Given the description of an element on the screen output the (x, y) to click on. 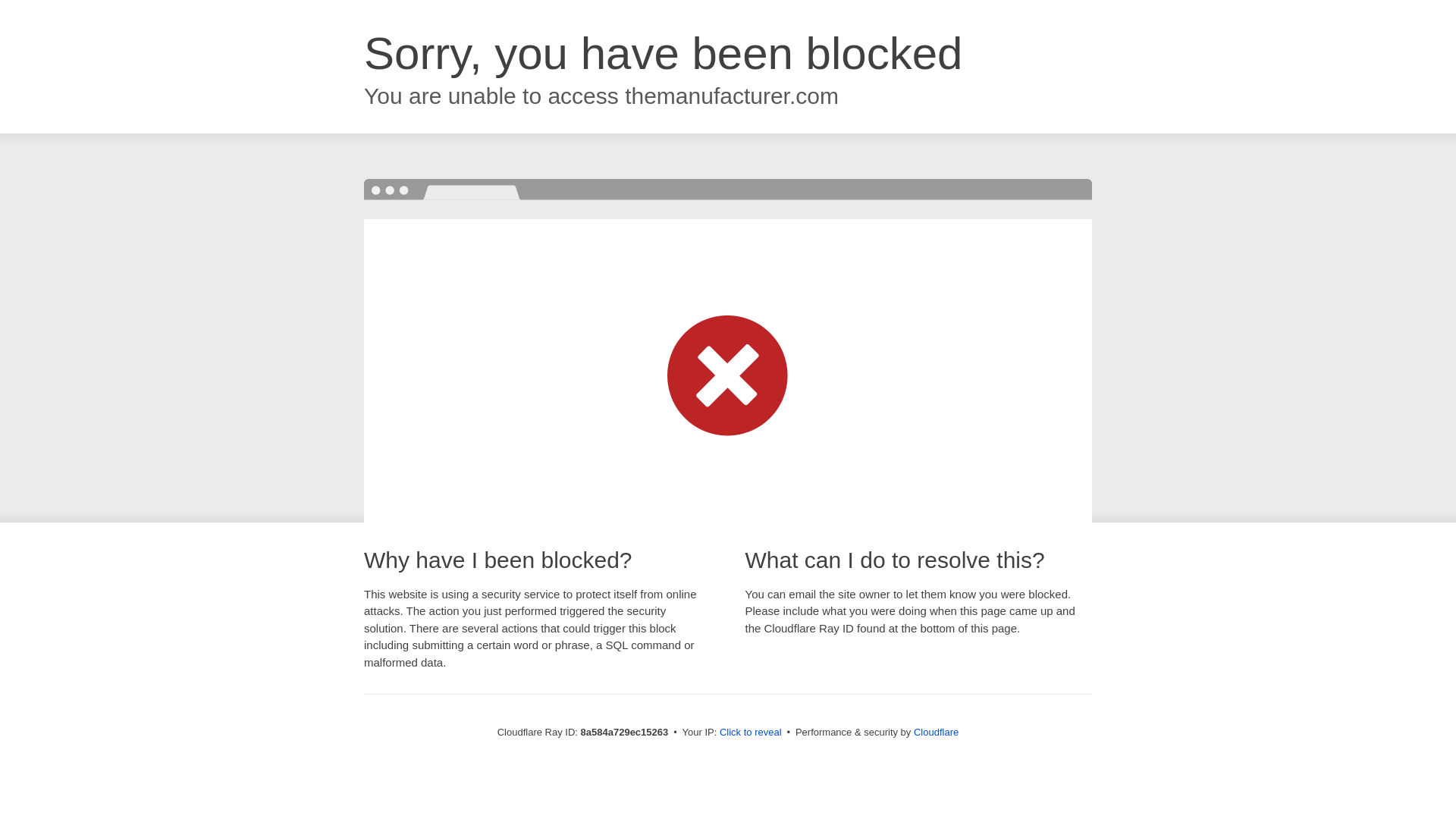
Click to reveal (750, 732)
Cloudflare (936, 731)
